Given the description of an element on the screen output the (x, y) to click on. 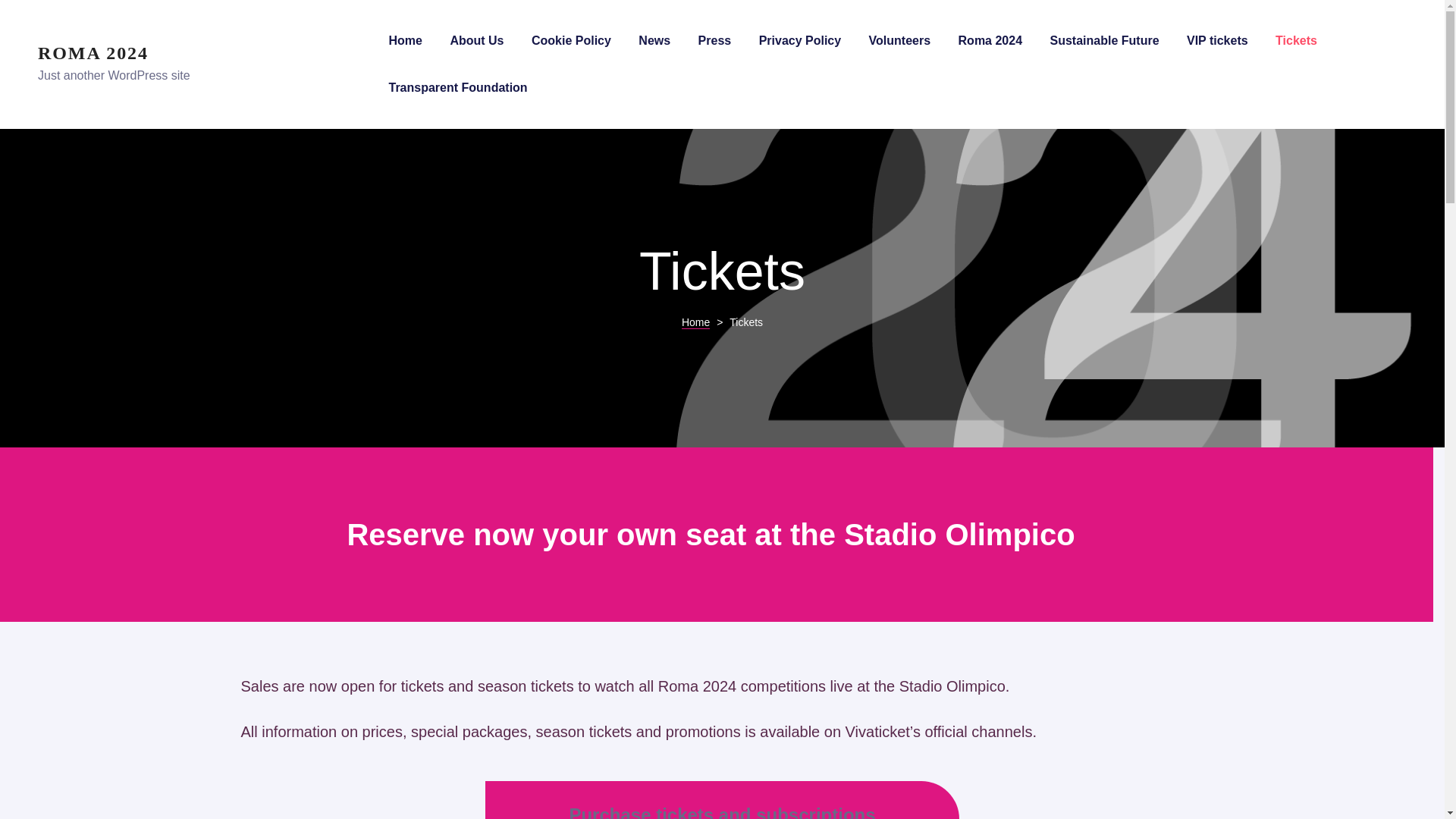
Press (715, 40)
Purchase tickets and subscriptions (722, 811)
Privacy Policy (799, 40)
News (654, 40)
Volunteers (900, 40)
Go to Roma 2024. (695, 322)
Roma 2024 (990, 40)
Home (405, 40)
ROMA 2024 (92, 53)
VIP tickets (1216, 40)
Cookie Policy (571, 40)
Home (695, 322)
Transparent Foundation (457, 87)
Tickets (1296, 40)
About Us (476, 40)
